Given the description of an element on the screen output the (x, y) to click on. 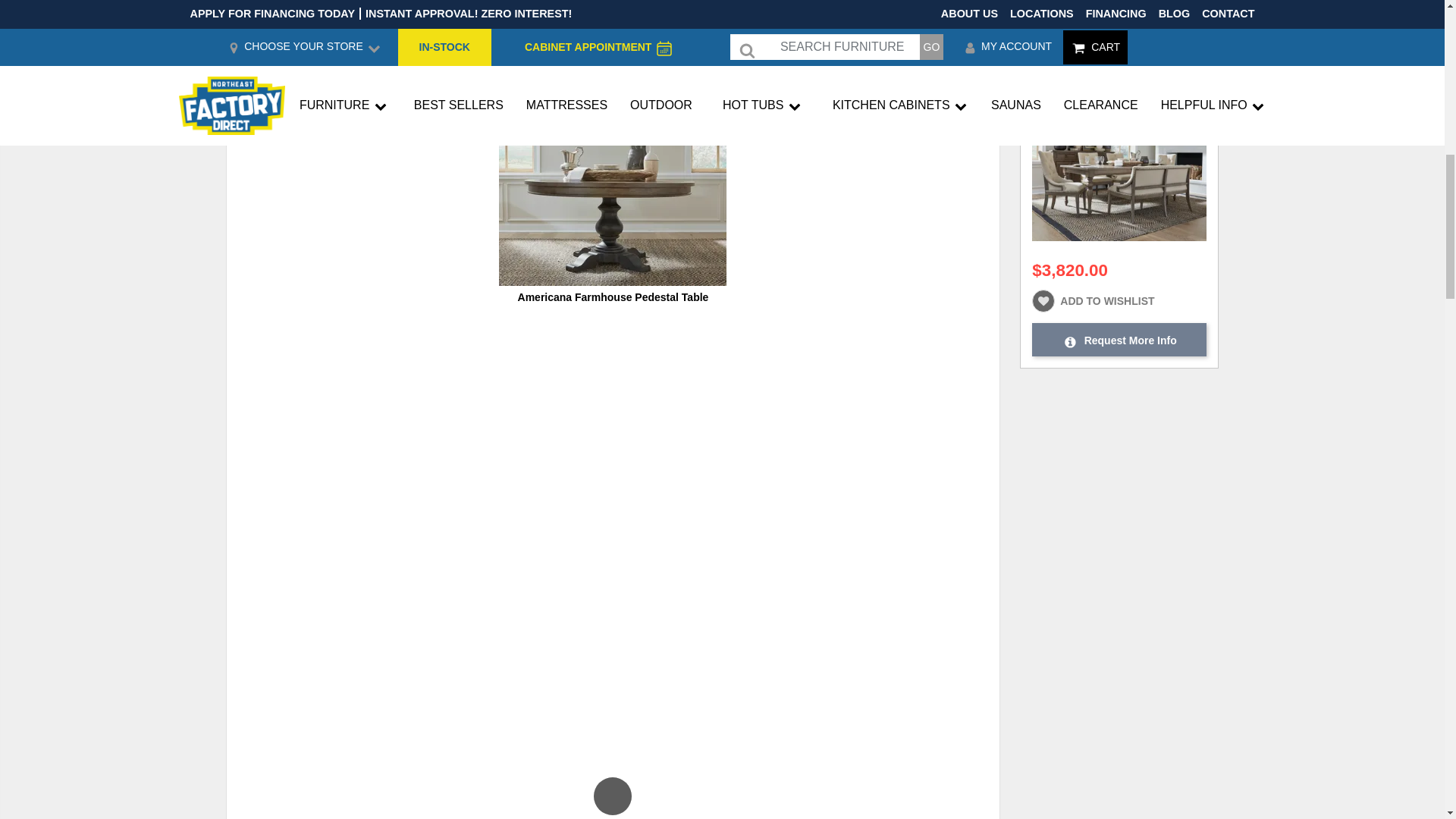
Add to Wishlist (972, 73)
Americana Farmhouse Pedestal Table (613, 297)
